Given the description of an element on the screen output the (x, y) to click on. 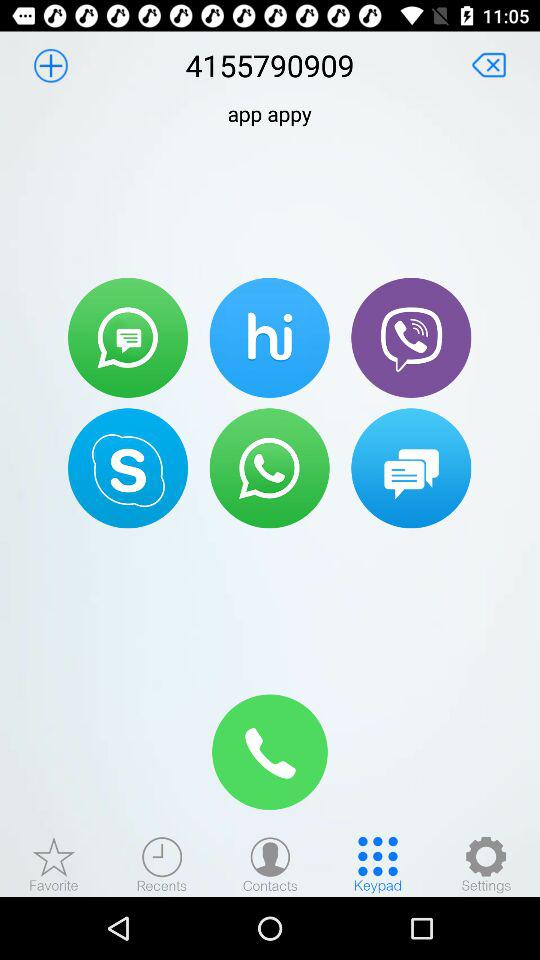
select as favorite (53, 864)
